Given the description of an element on the screen output the (x, y) to click on. 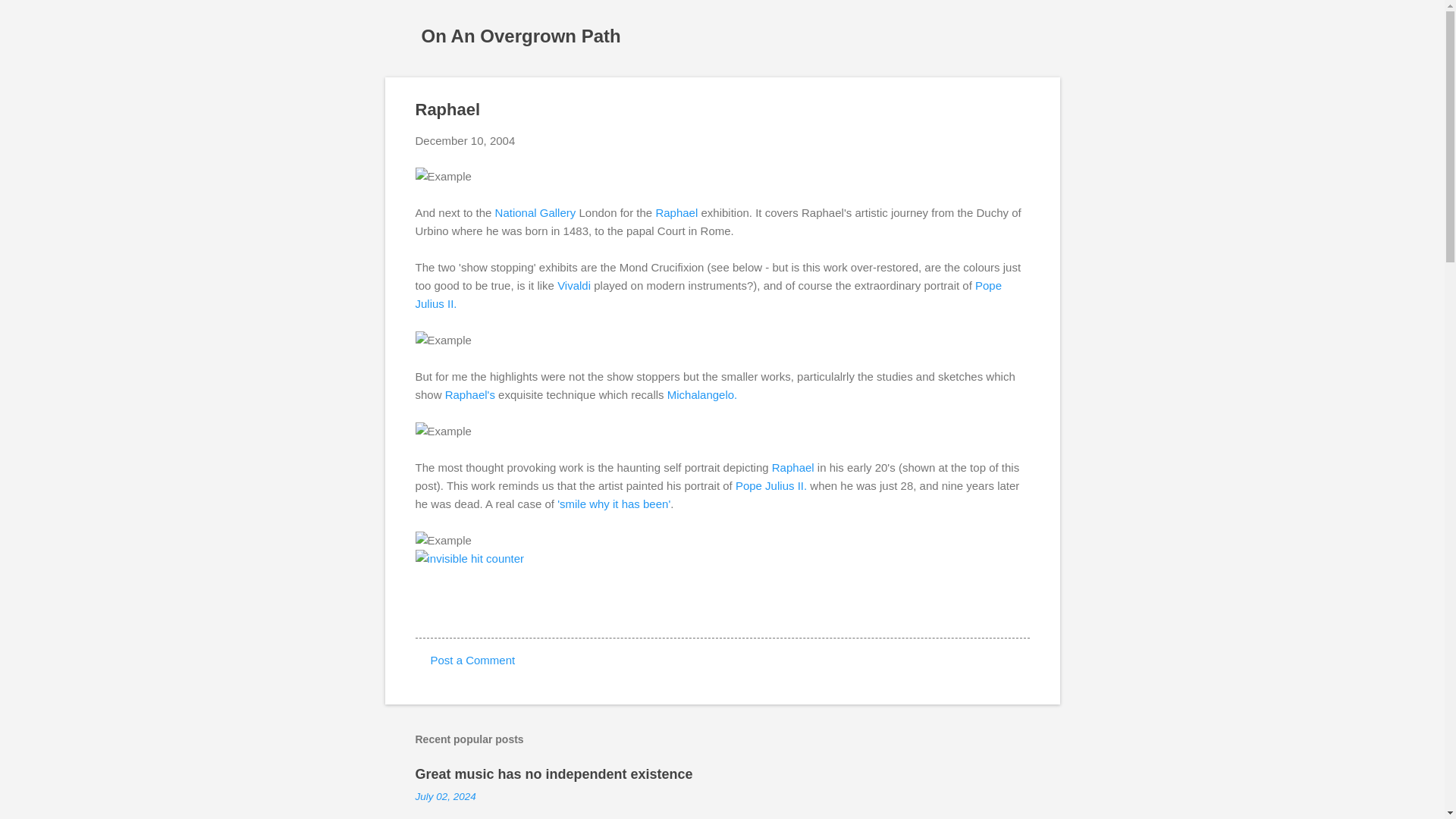
permanent link (464, 140)
'smile why it has been' (613, 503)
Raphael (792, 467)
Great music has no independent existence (553, 774)
Pope Julius II. (708, 294)
Email Post (423, 609)
Post a Comment (472, 659)
Pope Julius II. (770, 485)
Vivaldi (574, 285)
On An Overgrown Path (521, 35)
Search (29, 18)
December 10, 2004 (464, 140)
National Gallery (537, 212)
Raphael (676, 212)
Michalangelo. (702, 394)
